Given the description of an element on the screen output the (x, y) to click on. 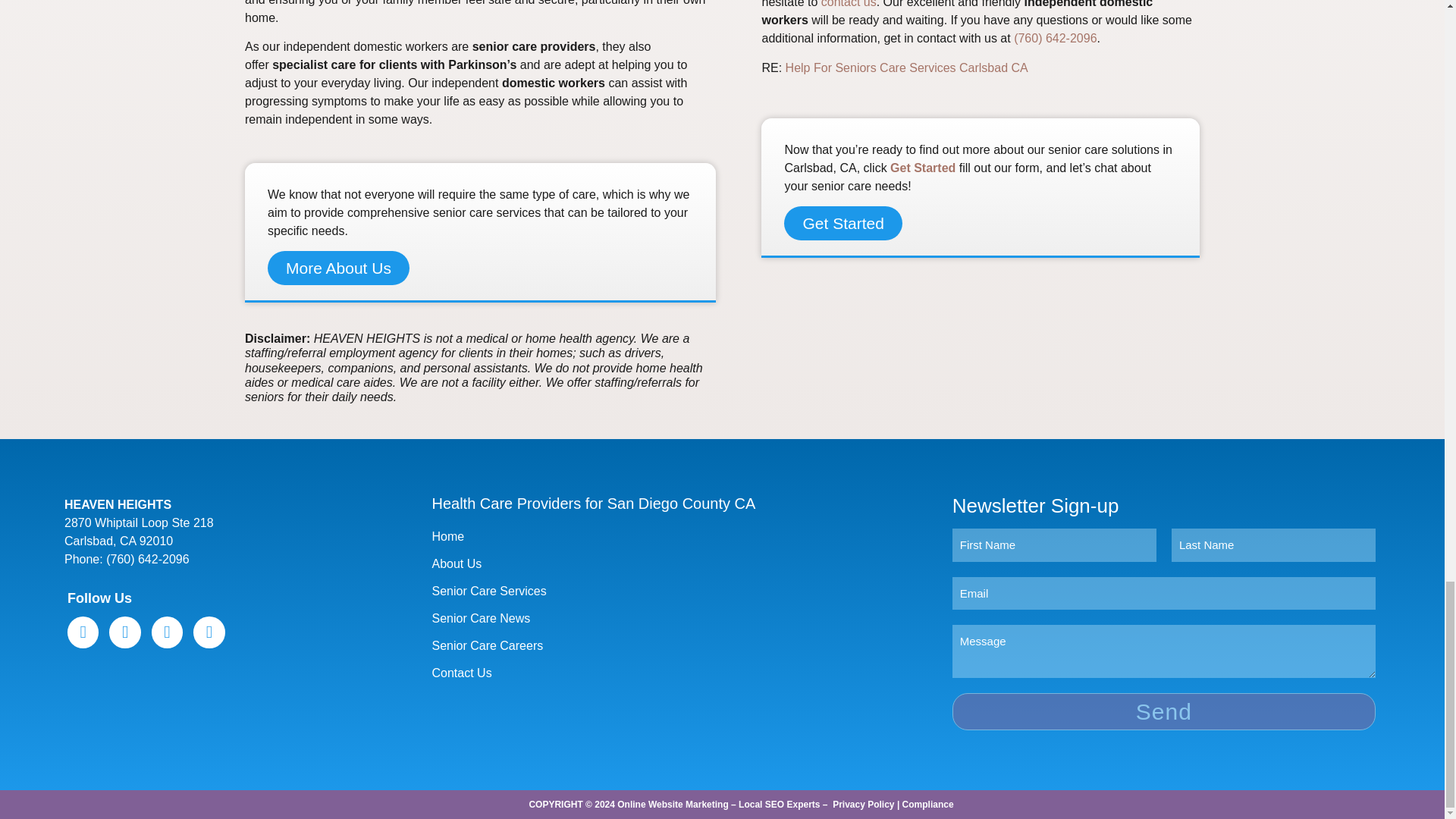
More About Us (338, 267)
Online Website Marketing - Local SEO Experts (718, 804)
contact us (848, 4)
Get Started (842, 223)
Privacy Policy (862, 804)
Compliance (927, 804)
Help For Seniors Care Services Carlsbad CA (906, 67)
Help For Seniors Carlsbad CA (906, 67)
Get Started (922, 167)
